Given the description of an element on the screen output the (x, y) to click on. 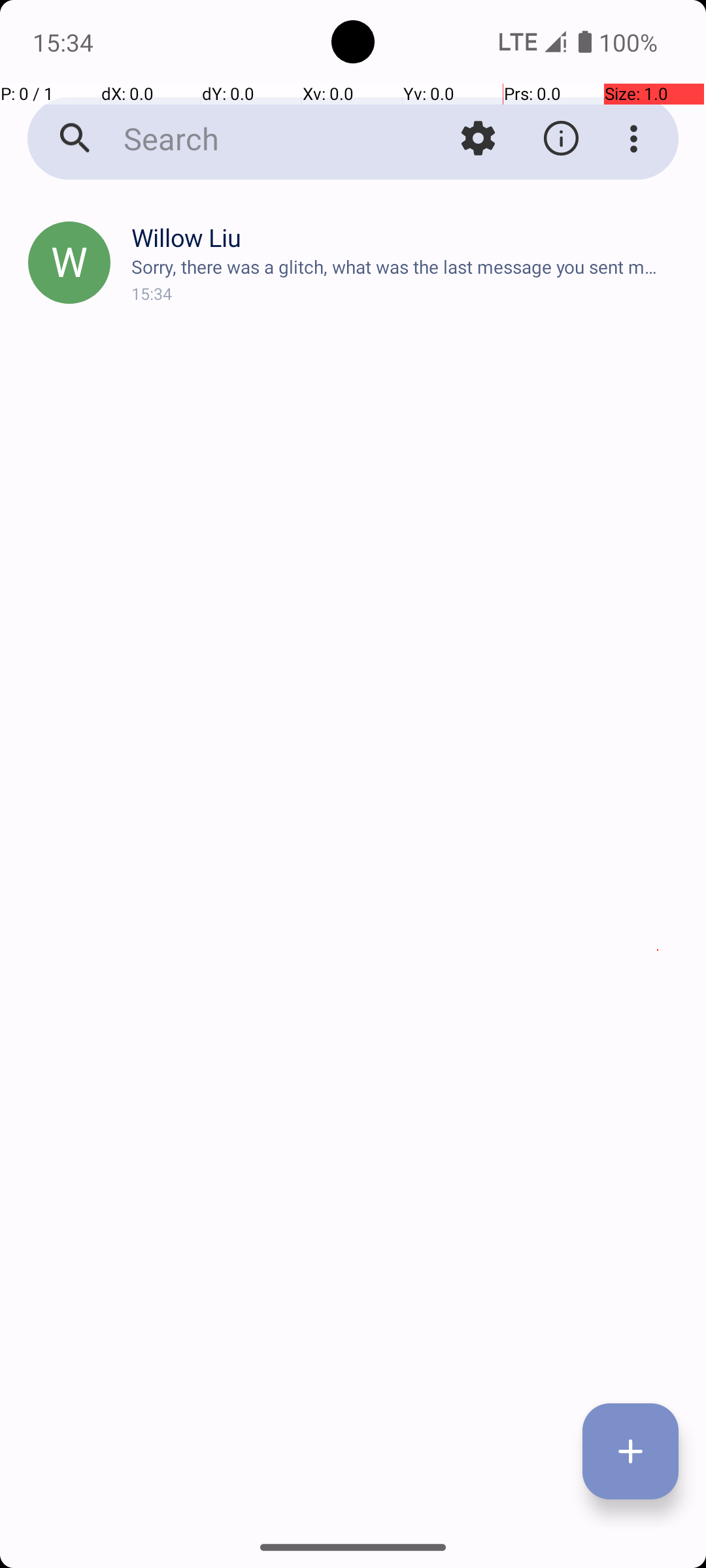
Willow Liu Element type: android.widget.TextView (408, 237)
